Given the description of an element on the screen output the (x, y) to click on. 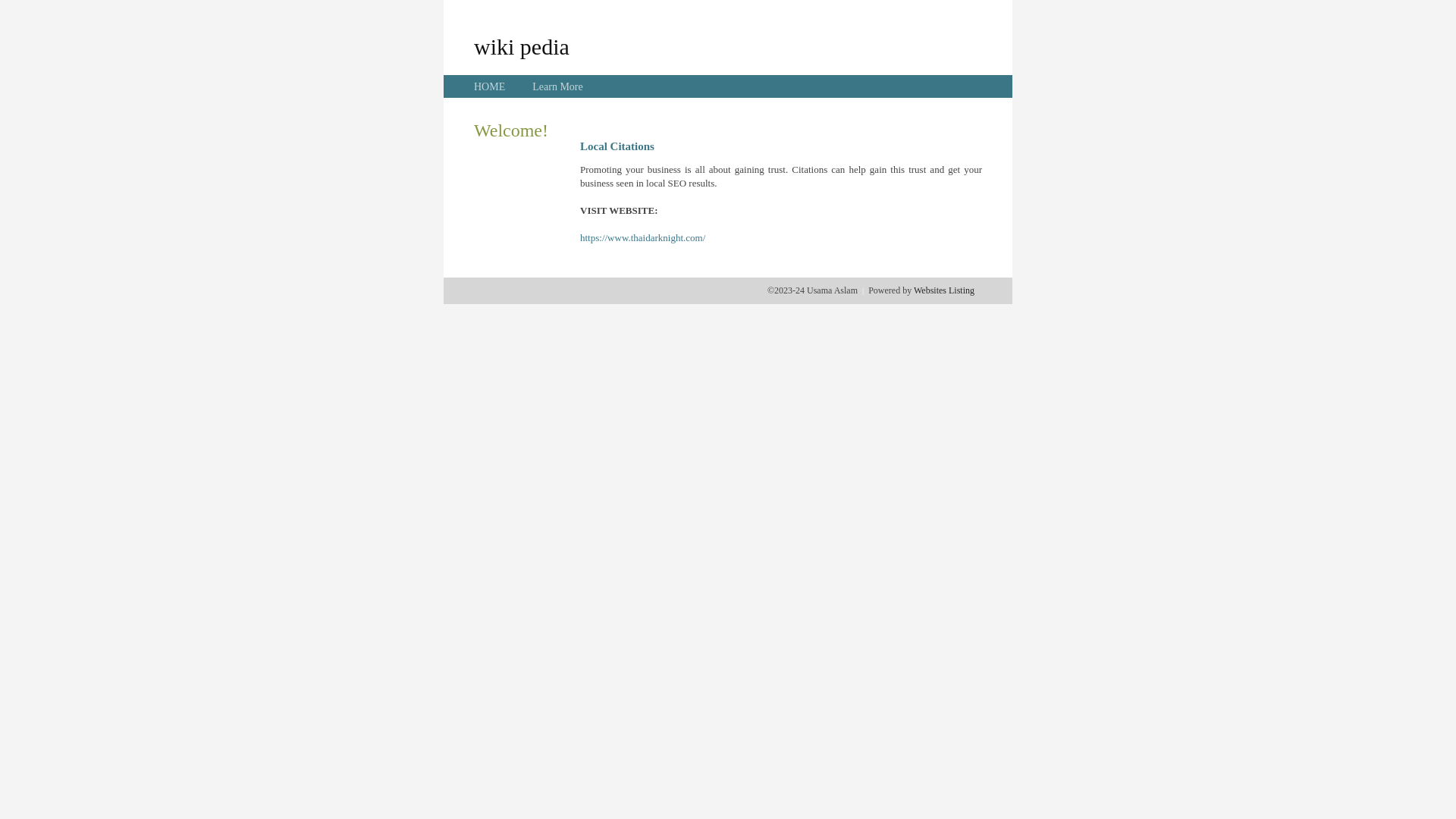
wiki pedia Element type: text (521, 46)
https://www.thaidarknight.com/ Element type: text (642, 237)
Learn More Element type: text (557, 86)
Websites Listing Element type: text (943, 290)
HOME Element type: text (489, 86)
